Given the description of an element on the screen output the (x, y) to click on. 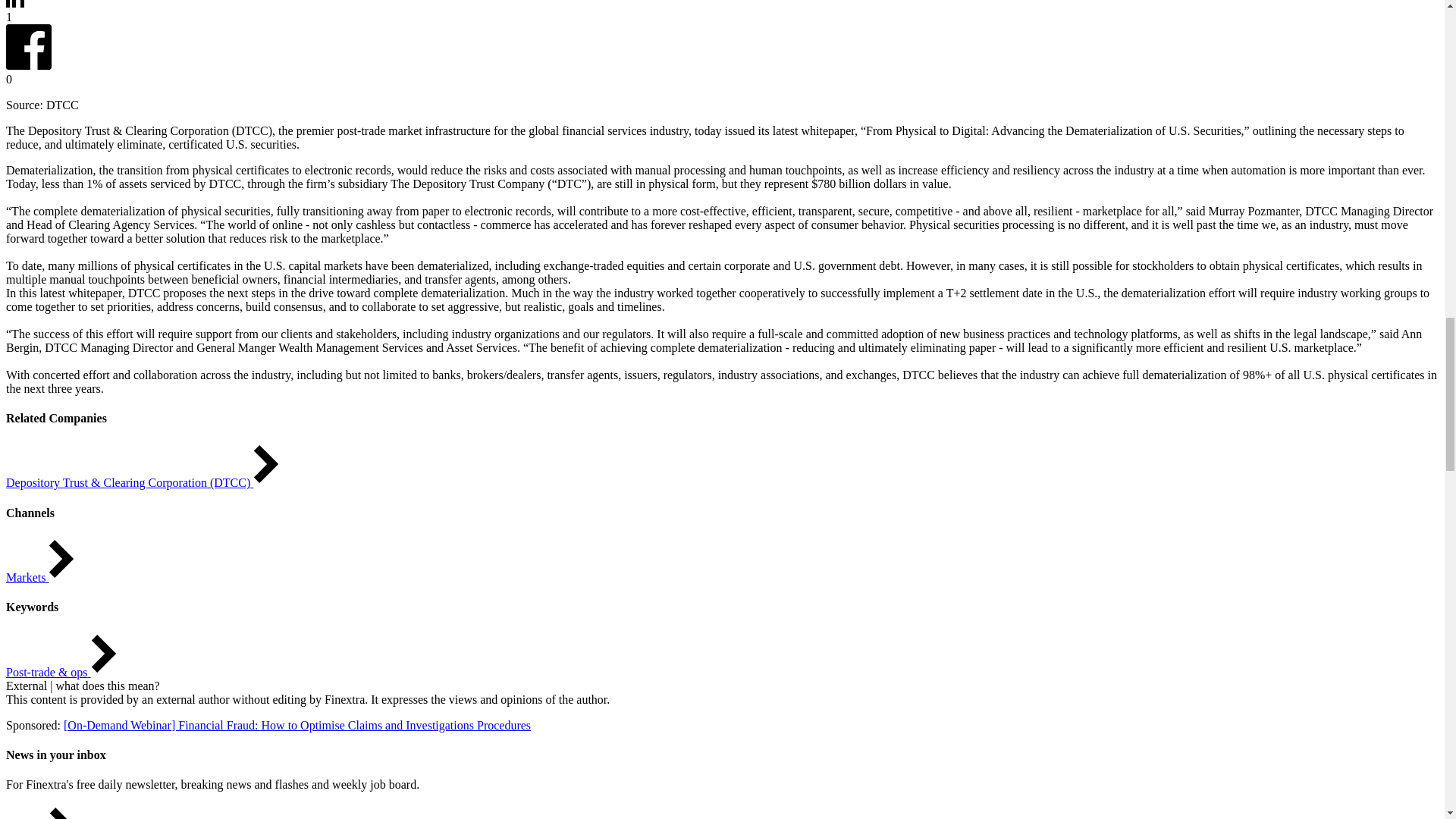
Share to linkedin (14, 4)
Share to Facebook (27, 65)
